Given the description of an element on the screen output the (x, y) to click on. 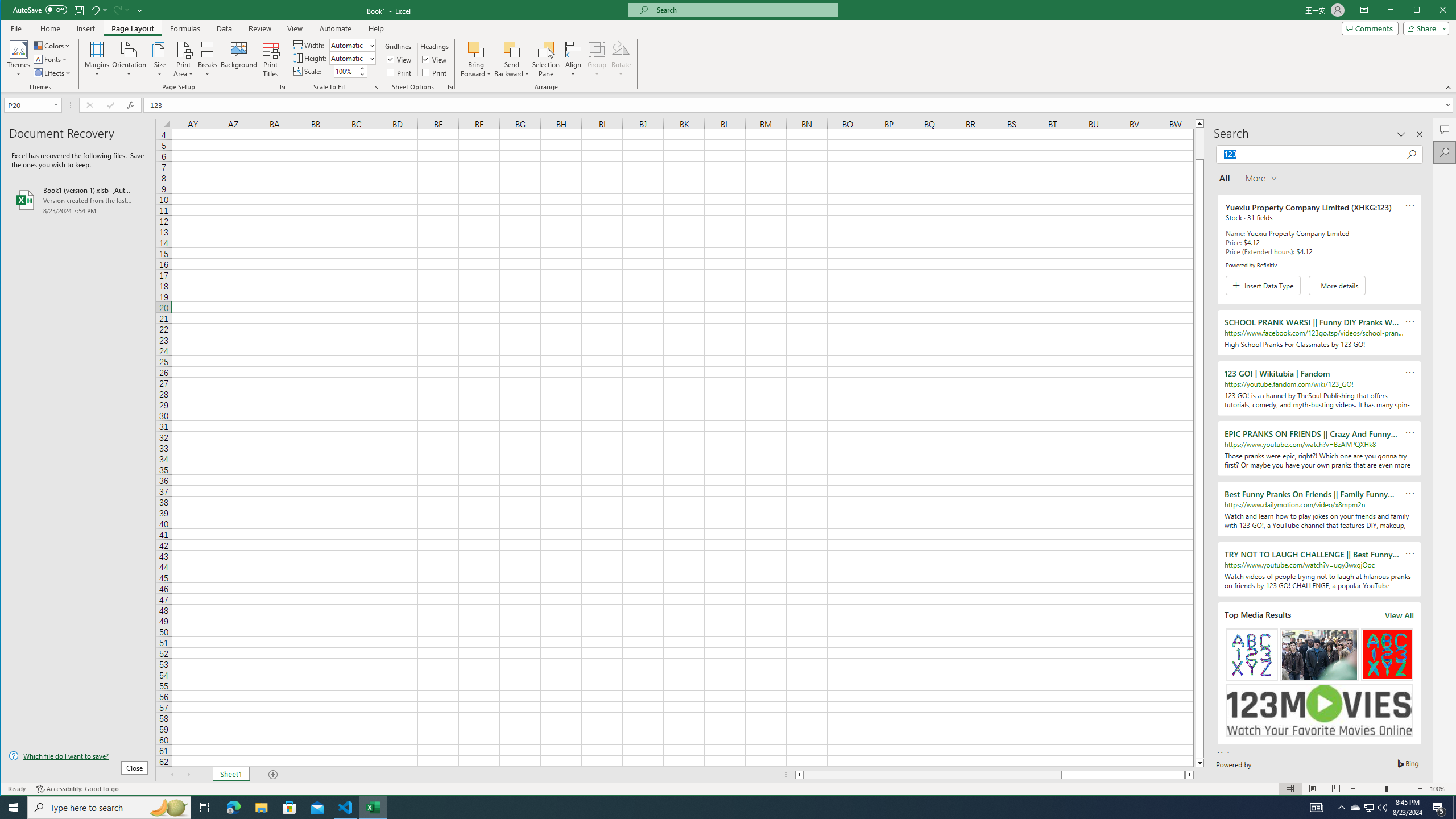
File Tab (16, 27)
Page Layout (132, 28)
Automate (336, 28)
Column right (1190, 774)
Background... (1355, 807)
Zoom (239, 59)
Open (1386, 788)
Scroll Right (56, 105)
Line down (188, 774)
Comments (1199, 763)
Page Setup (1369, 28)
AutomationID: 4105 (375, 86)
Visual Studio Code - 1 running window (1316, 807)
Review (345, 807)
